Given the description of an element on the screen output the (x, y) to click on. 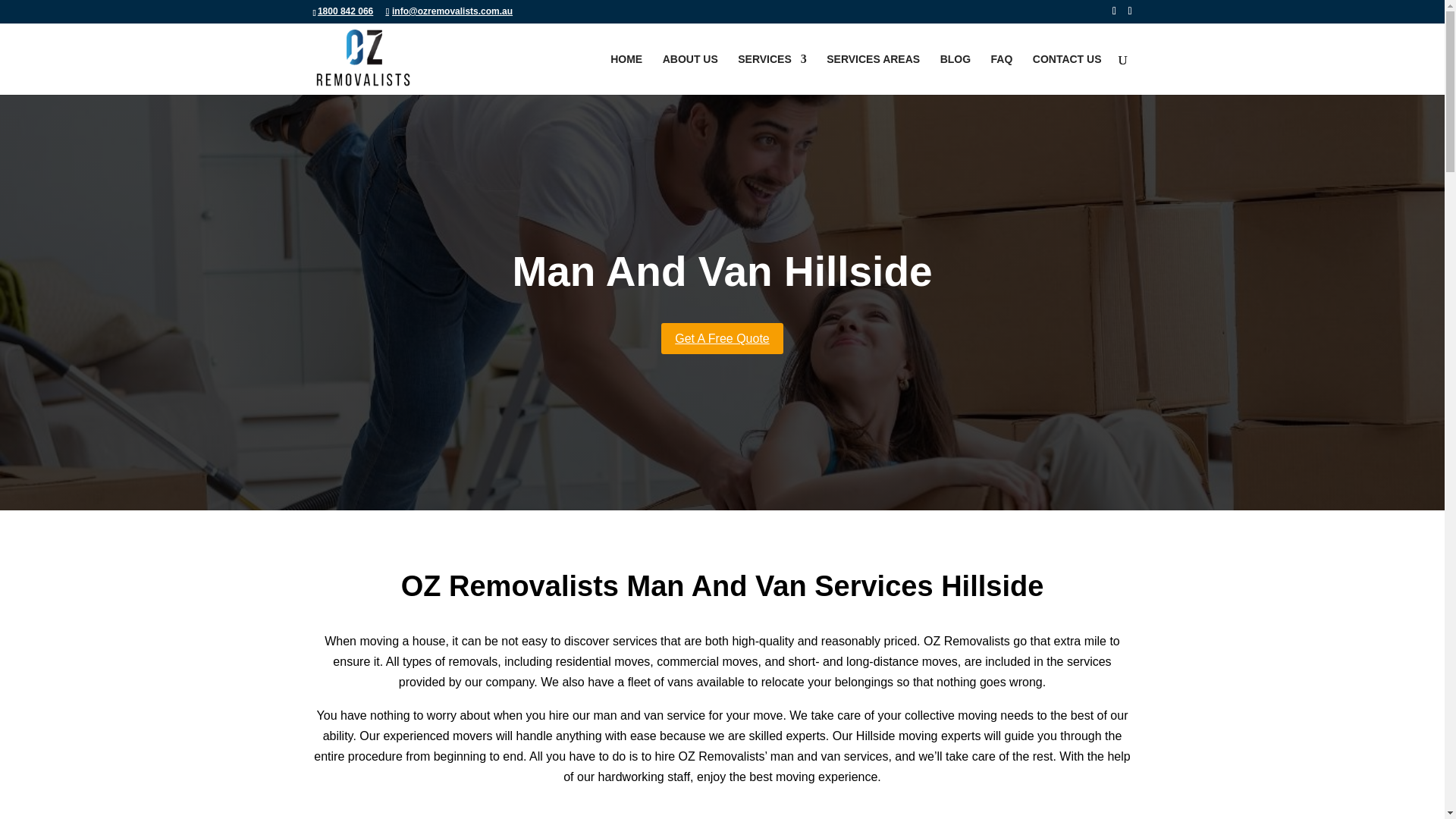
CONTACT US (1067, 74)
1800 842 066 (344, 10)
SERVICES (772, 74)
ABOUT US (689, 74)
Get A Free Quote (722, 337)
SERVICES AREAS (873, 74)
